Given the description of an element on the screen output the (x, y) to click on. 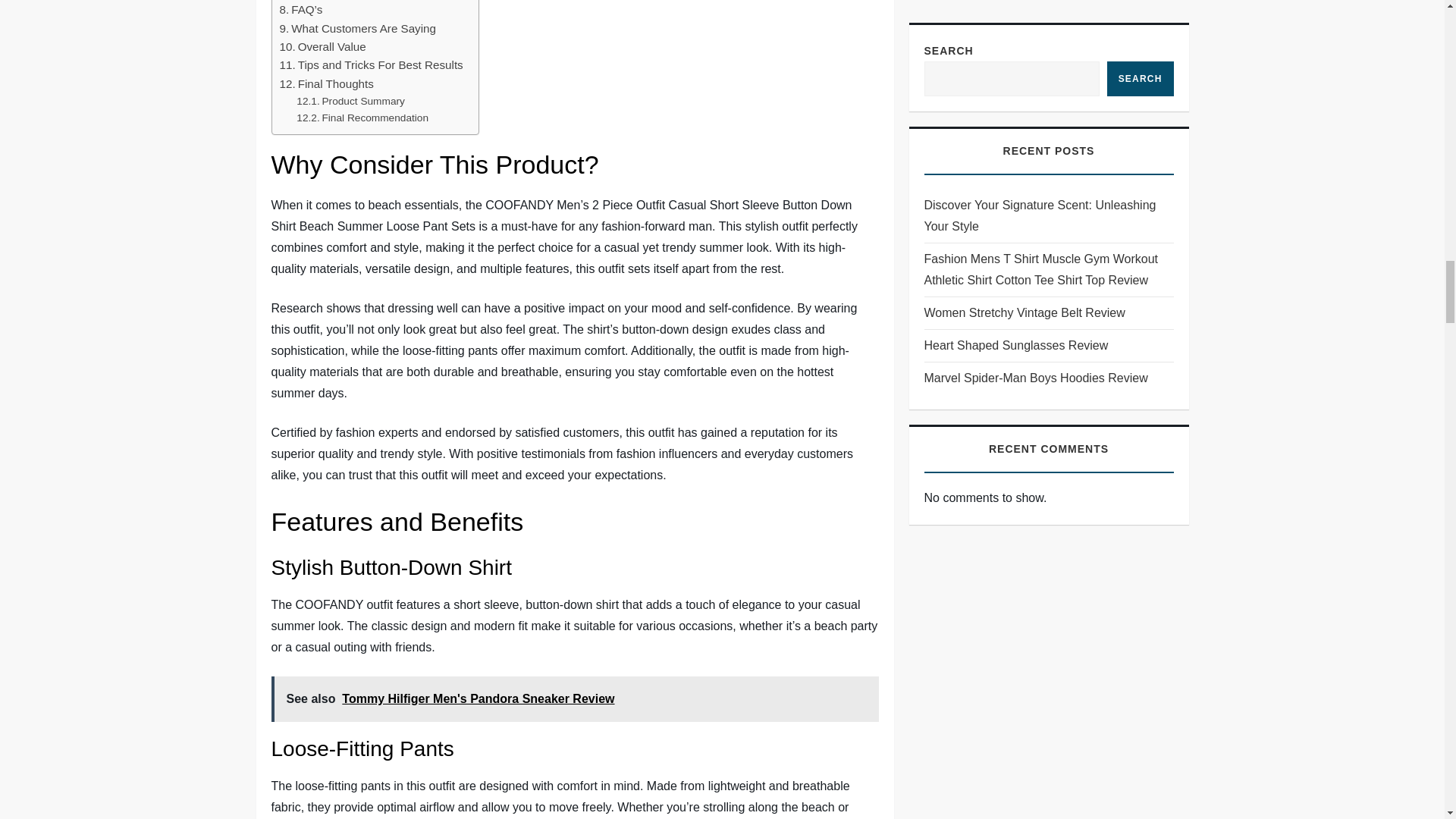
Overall Value (322, 46)
Final Thoughts (325, 84)
Tips and Tricks For Best Results (371, 65)
See also  Tommy Hilfiger Men's Pandora Sneaker Review (574, 698)
Final Recommendation (362, 117)
What Customers Are Saying (357, 28)
Product Summary (350, 101)
